Given the description of an element on the screen output the (x, y) to click on. 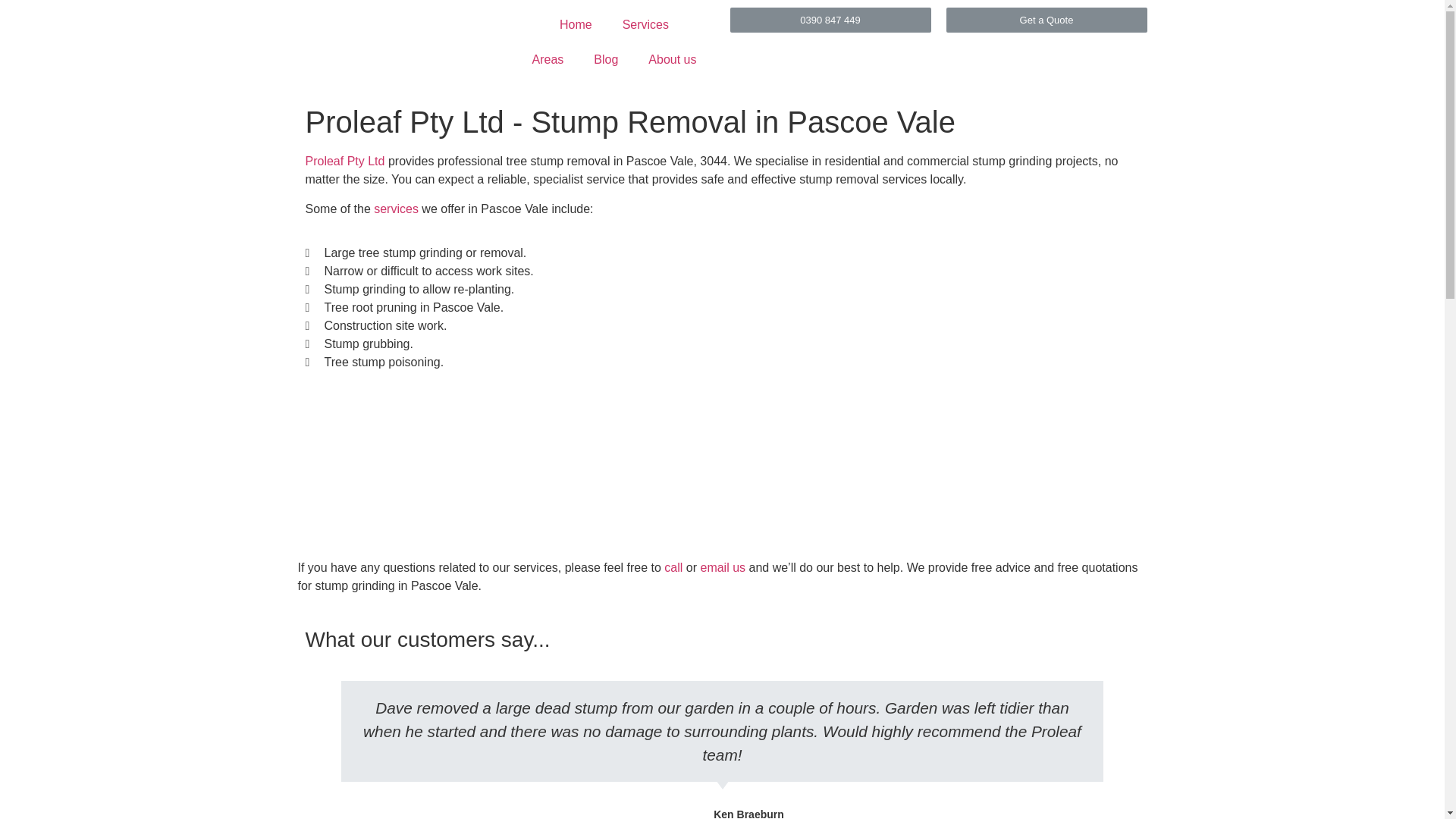
Areas (547, 59)
About us (672, 59)
Blog (605, 59)
Services (645, 24)
Home (575, 24)
